Given the description of an element on the screen output the (x, y) to click on. 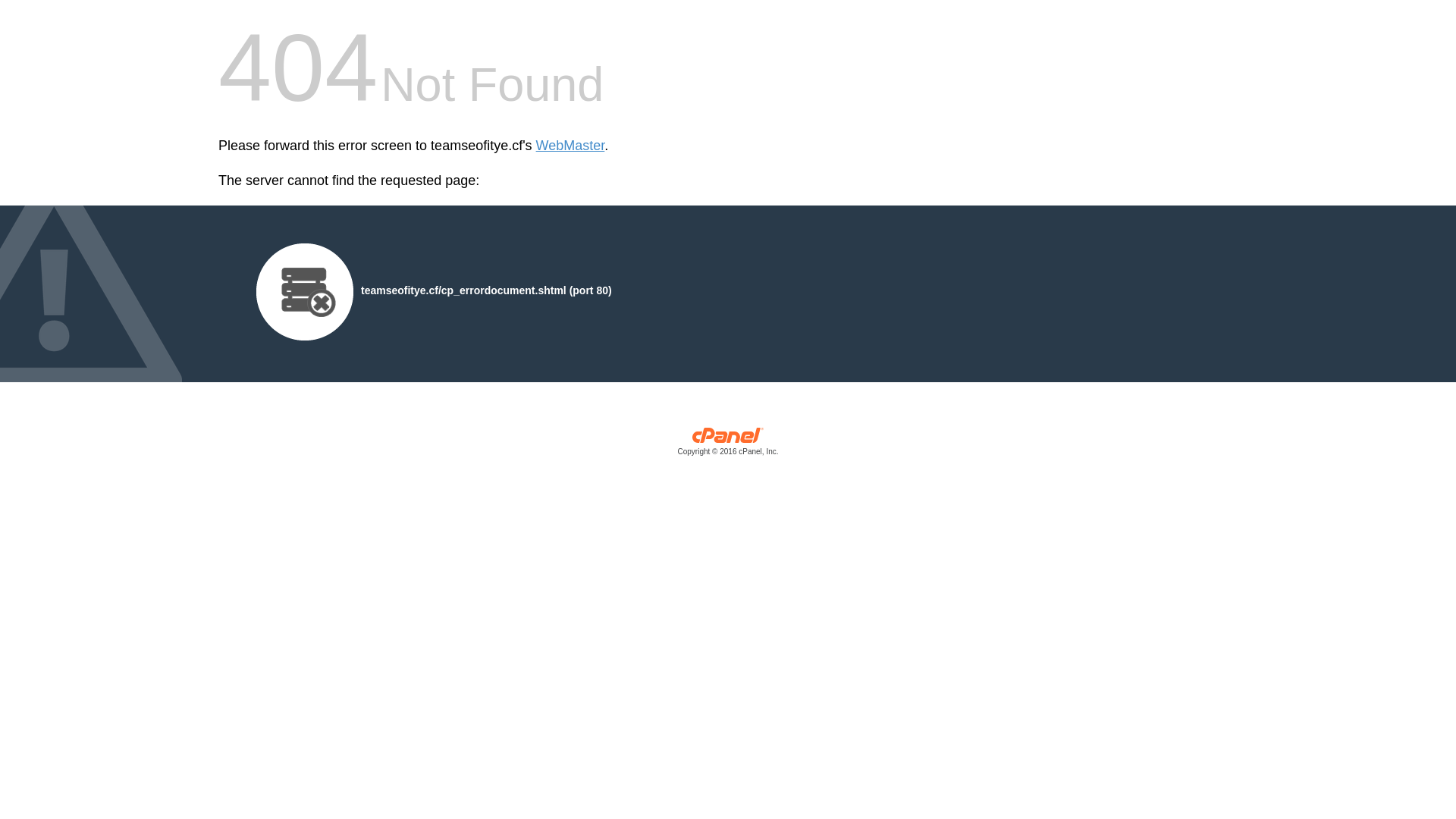
WebMaster Element type: text (570, 145)
